Given the description of an element on the screen output the (x, y) to click on. 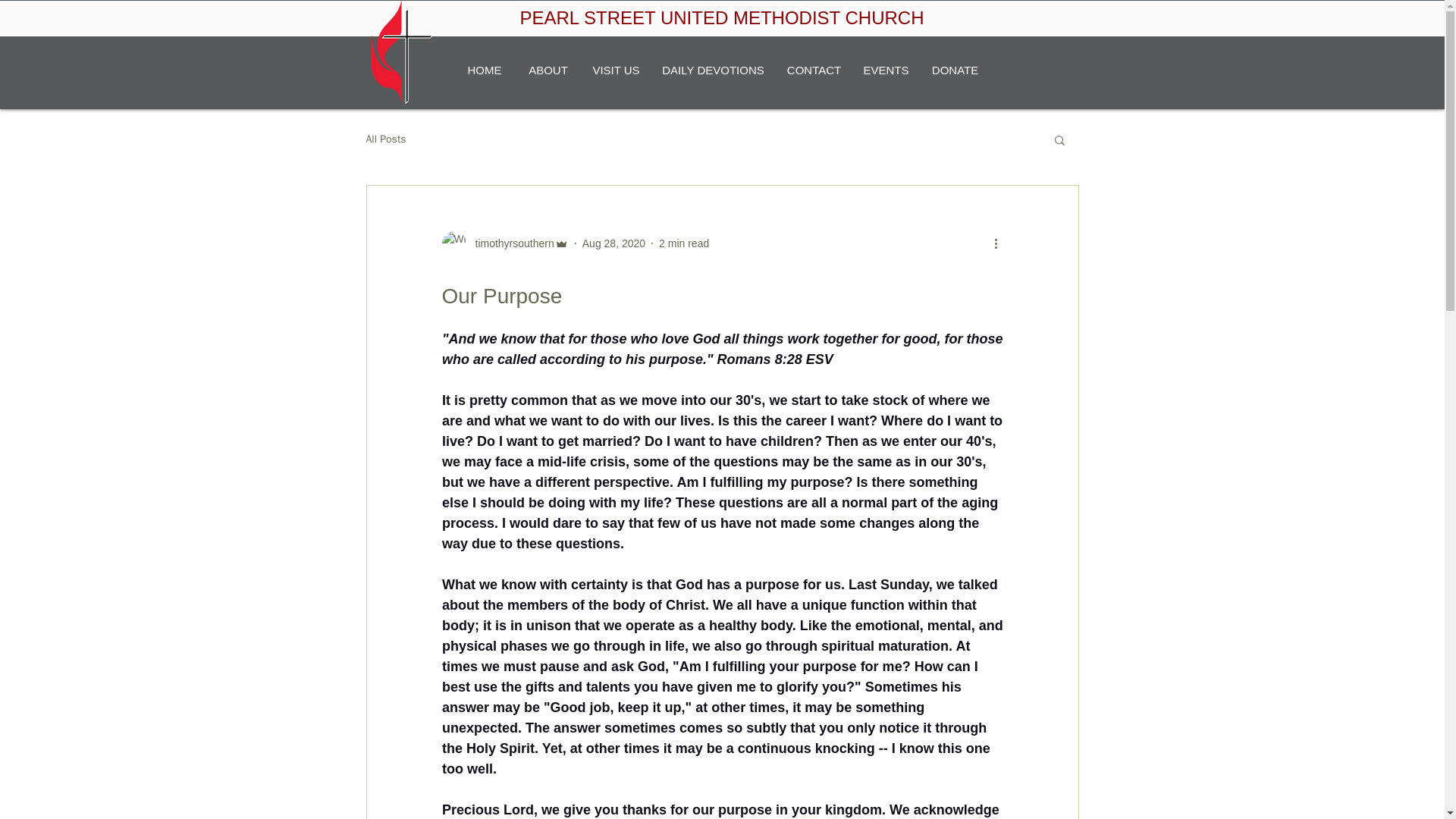
timothyrsouthern (504, 242)
EVENTS (884, 70)
CONTACT (812, 70)
Aug 28, 2020 (613, 242)
DONATE (954, 70)
All Posts (385, 139)
2 min read (684, 242)
HOME (483, 70)
DAILY DEVOTIONS (712, 70)
VISIT US (615, 70)
